Given the description of an element on the screen output the (x, y) to click on. 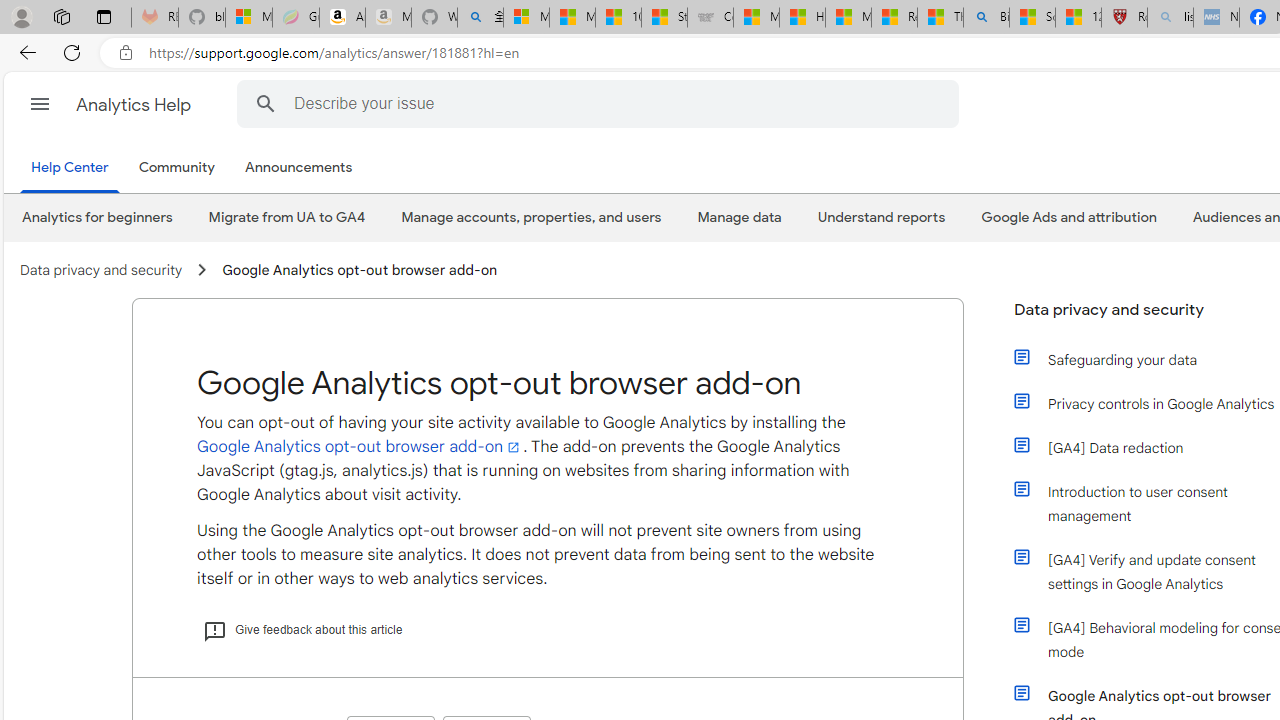
Community (180, 168)
Recipes - MSN (893, 17)
Manage data (739, 217)
Understand reports (881, 217)
Understand reports (880, 217)
Help Center (70, 168)
Analytics for beginners (97, 217)
Manage data (739, 217)
